Given the description of an element on the screen output the (x, y) to click on. 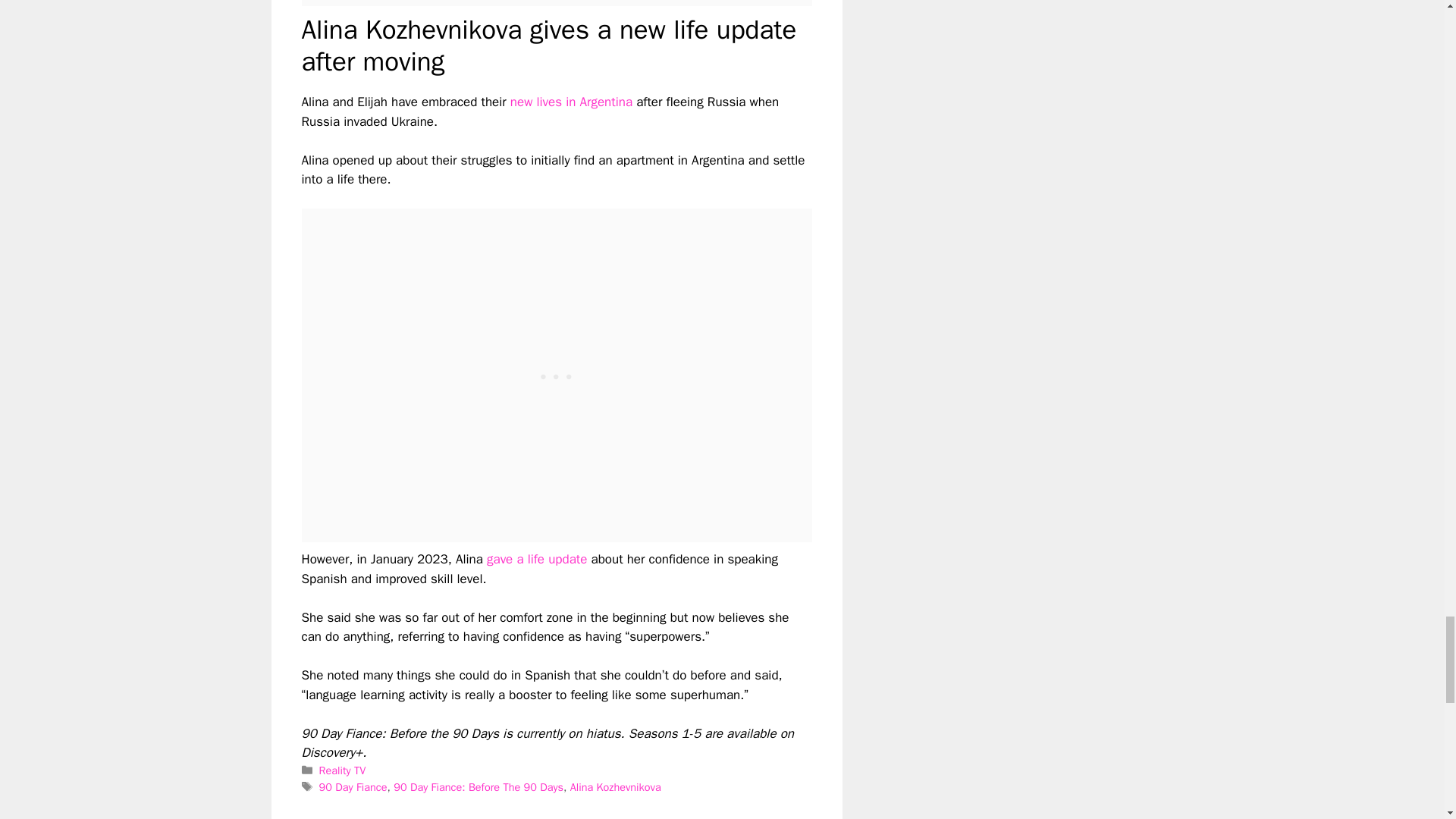
gave a life update (536, 559)
90 Day Fiance: Before The 90 Days (478, 786)
Alina Kozhevnikova (615, 786)
new lives in Argentina (573, 101)
Reality TV (342, 770)
90 Day Fiance (352, 786)
